Given the description of an element on the screen output the (x, y) to click on. 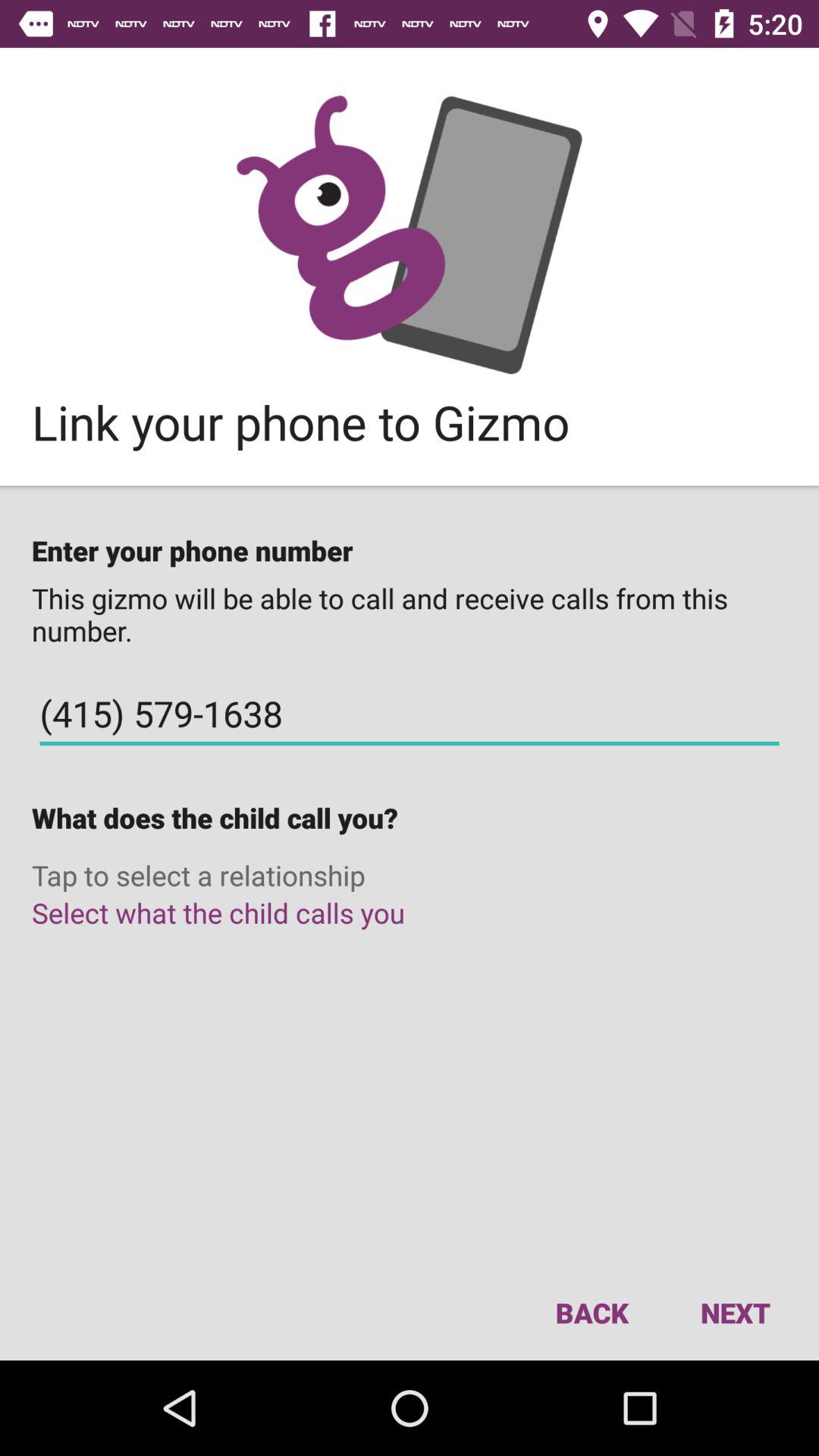
open the icon below select what the item (735, 1312)
